Given the description of an element on the screen output the (x, y) to click on. 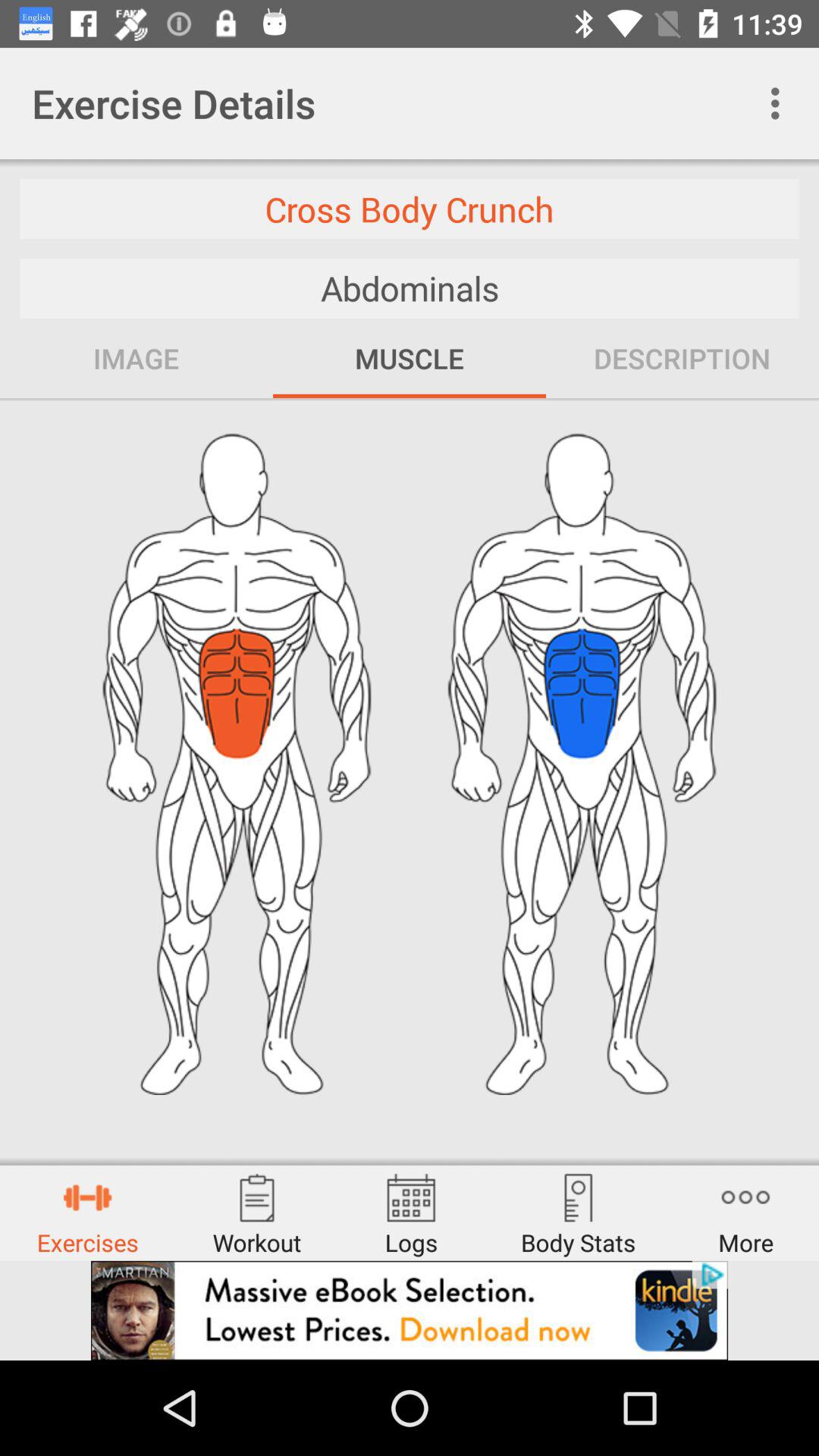
banner advertisement (409, 1310)
